Given the description of an element on the screen output the (x, y) to click on. 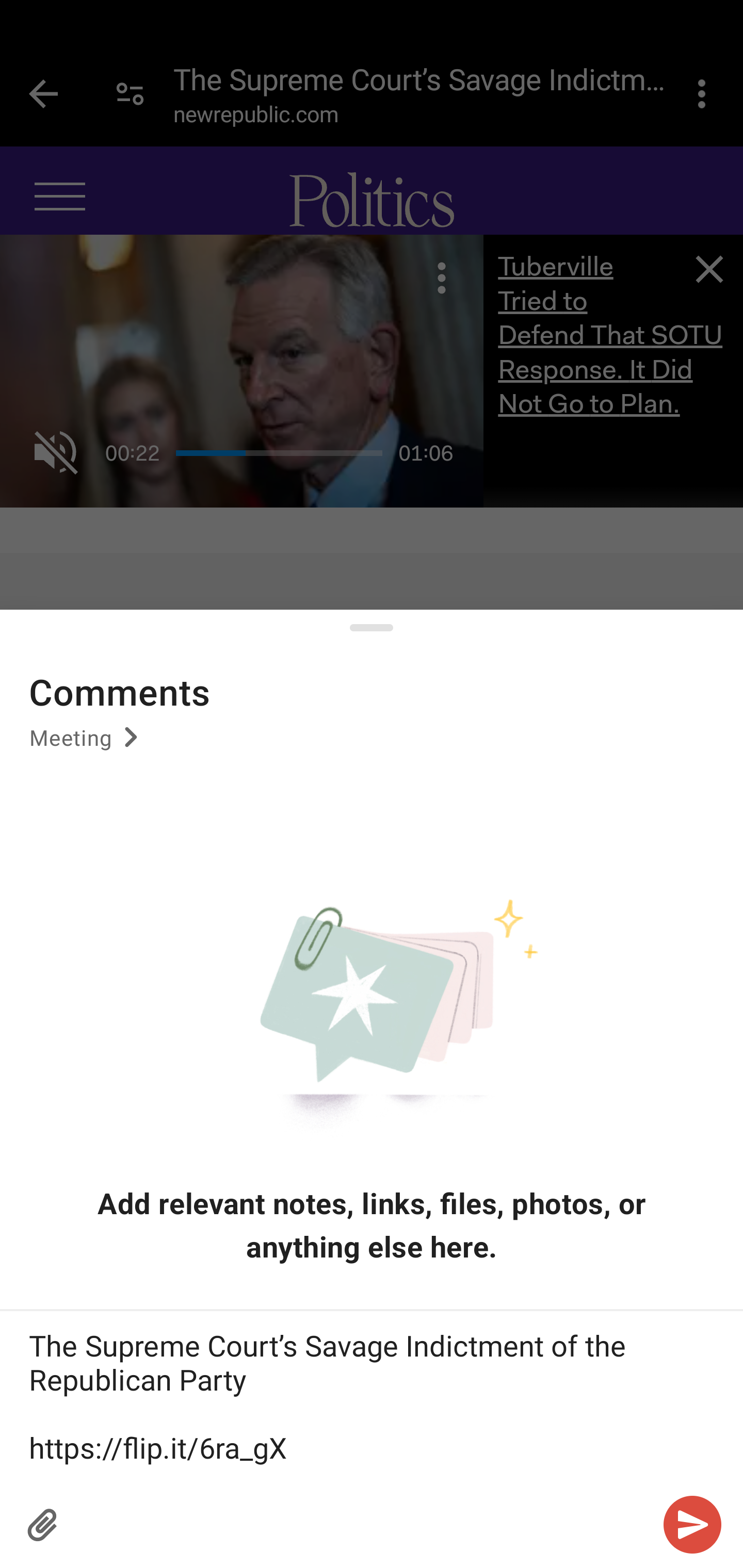
Meeting (86, 744)
Attachment (43, 1524)
Submit (692, 1524)
